Given the description of an element on the screen output the (x, y) to click on. 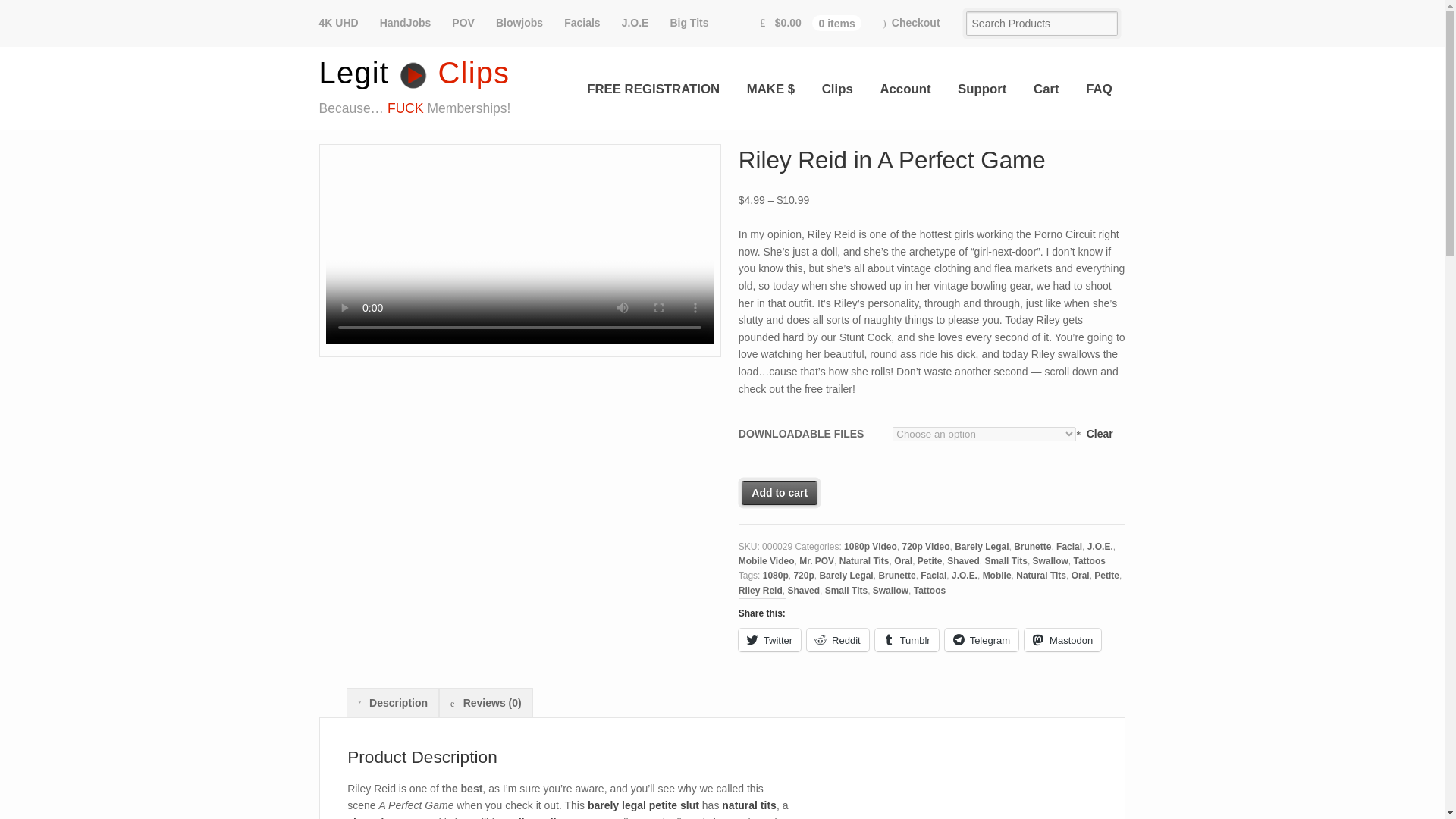
Click to share on Tumblr (907, 639)
Search (87, 11)
Swallow (1050, 561)
FAQ (1098, 89)
Oral (902, 561)
Legit Clips (414, 72)
Checkout (911, 22)
Facials (581, 22)
Click to share on Twitter (769, 639)
View your shopping cart (810, 23)
1080p (775, 575)
Barely Legal (982, 546)
Facial (1069, 546)
Natural Tits (864, 561)
4K UHD (343, 22)
